Given the description of an element on the screen output the (x, y) to click on. 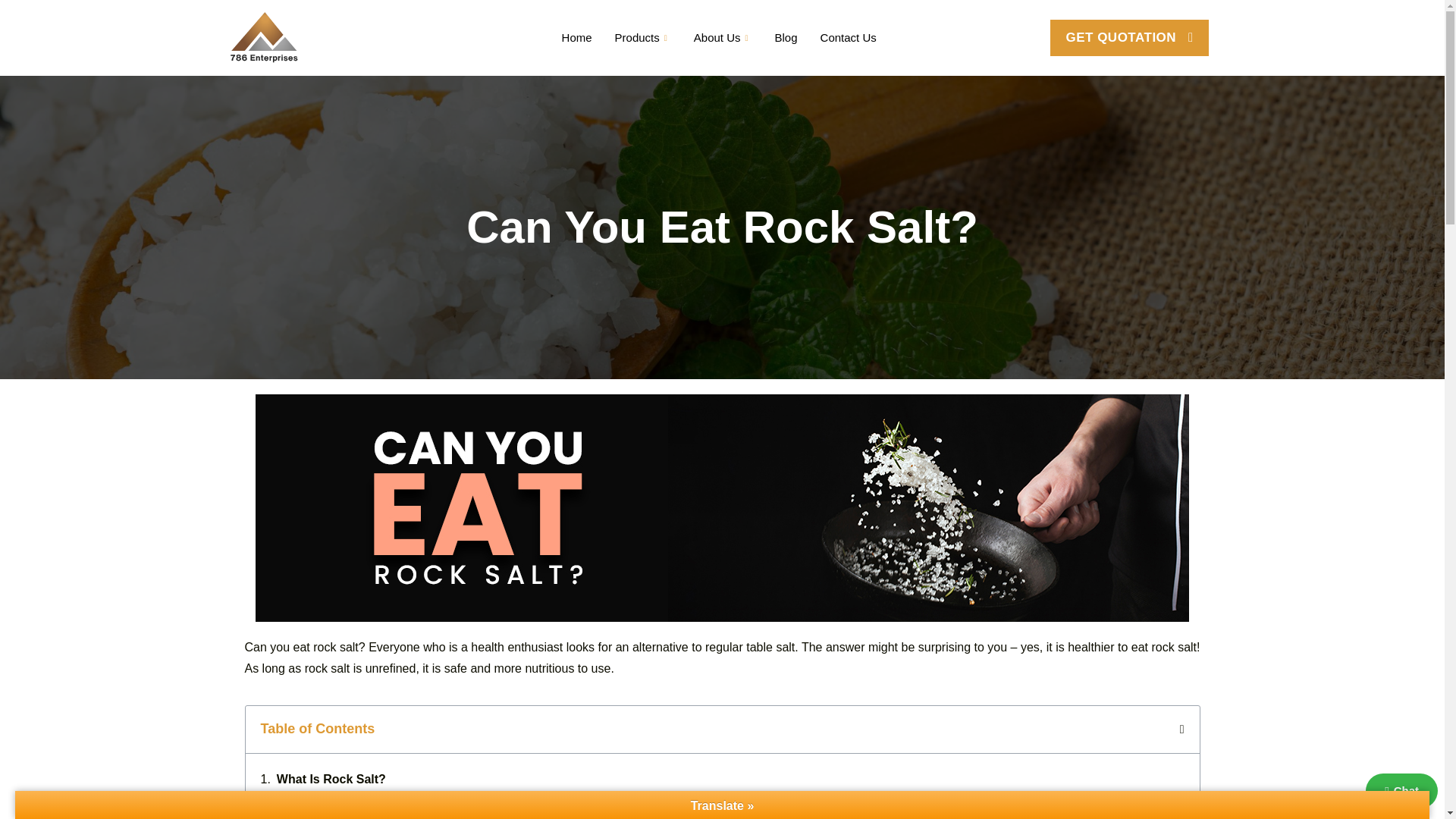
Products (643, 37)
